Given the description of an element on the screen output the (x, y) to click on. 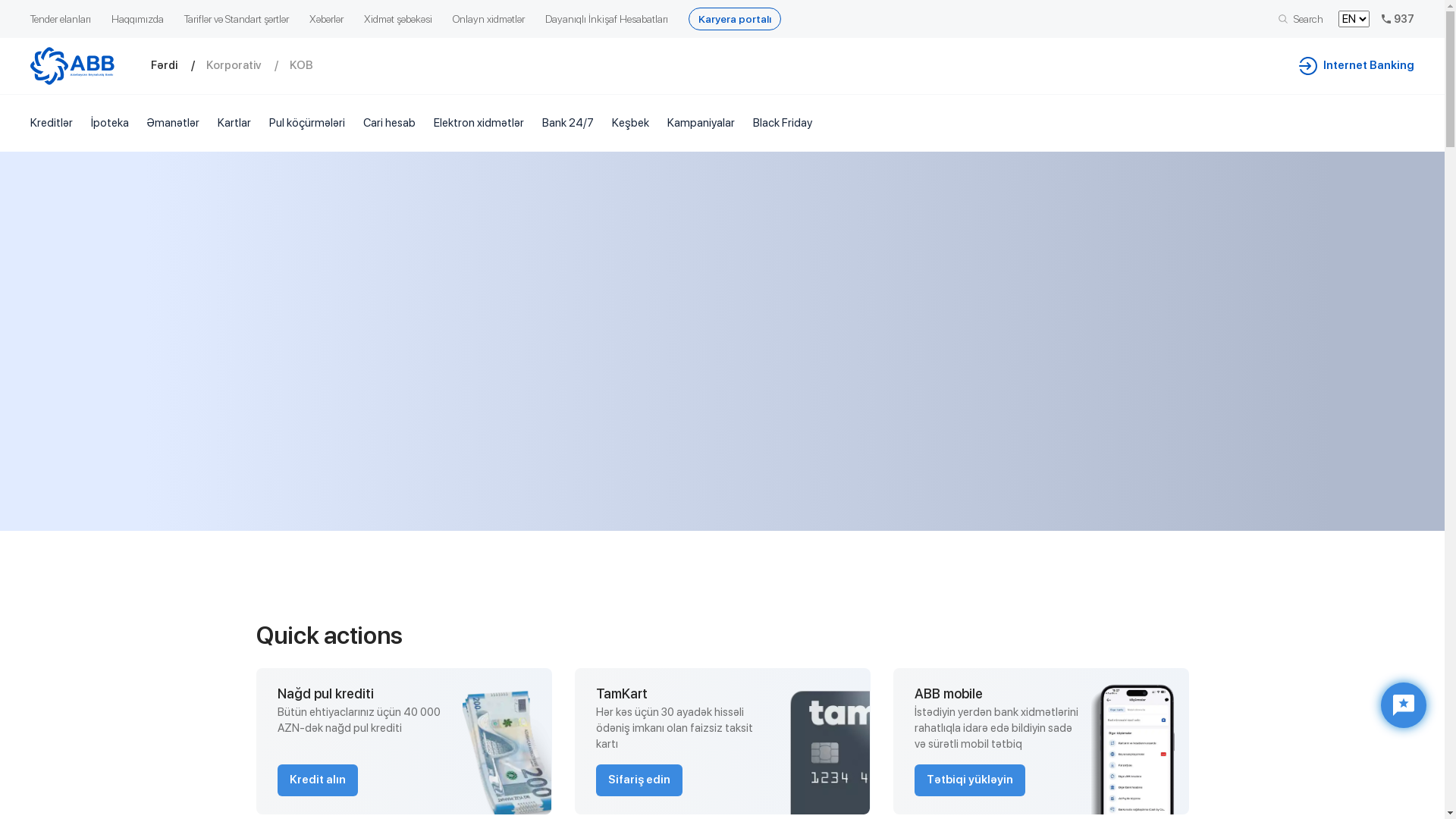
Kartlar Element type: text (234, 122)
Internet Banking Element type: text (1367, 65)
Black Friday Element type: text (782, 122)
Bank 24/7 Element type: text (567, 122)
Cari hesab Element type: text (389, 122)
Korporativ Element type: text (247, 65)
Kampaniyalar Element type: text (700, 122)
KOB Element type: text (312, 65)
937 Element type: text (1409, 18)
